Given the description of an element on the screen output the (x, y) to click on. 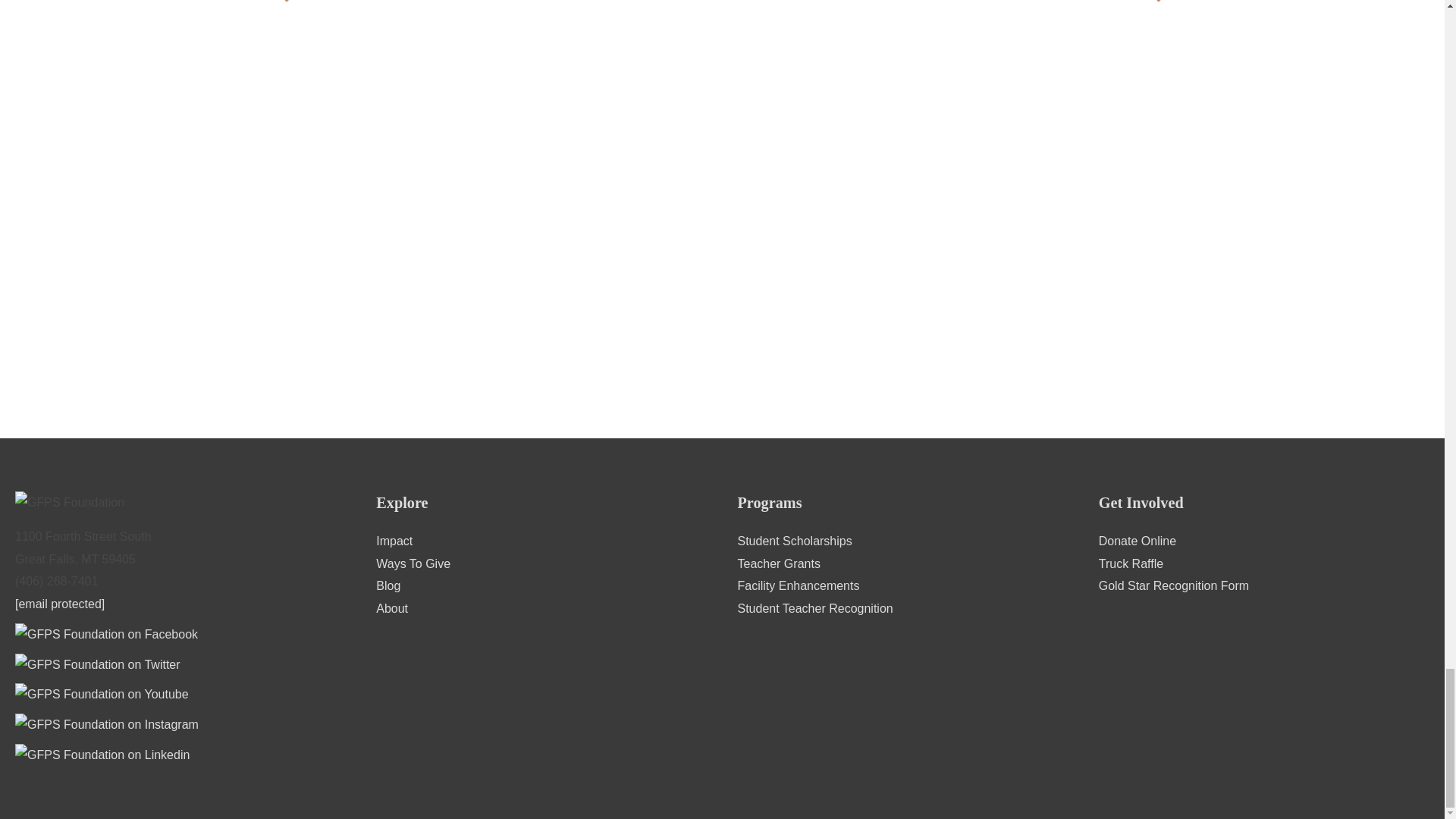
GFPS Foundation on Linkedin (103, 749)
GFPS Foundation Truck Raffle (1131, 563)
About (391, 608)
GFPS Foundation Blog (387, 585)
Donate Online (1137, 540)
Impact (393, 540)
GFPS Foundation on Twitter (99, 659)
GFPS Grants (777, 563)
Facility Enhancements (797, 585)
Ways To Give (412, 563)
